Given the description of an element on the screen output the (x, y) to click on. 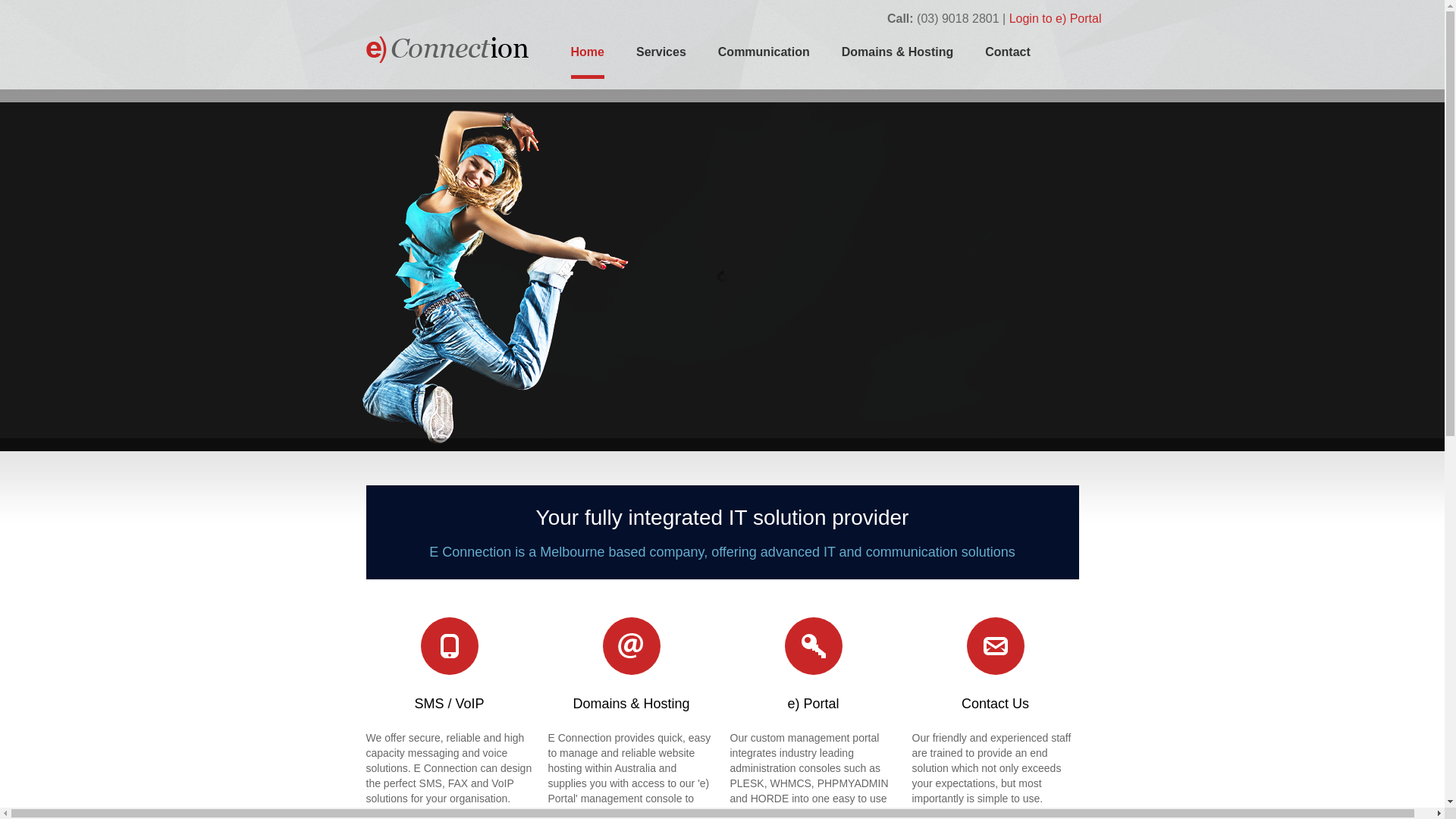
Domains & Hosting Element type: text (897, 59)
Services Element type: text (661, 59)
Login to e) Portal Element type: text (1055, 18)
Communication Element type: text (763, 59)
Contact Element type: text (1007, 59)
Home Element type: text (586, 61)
LEARN MORE Element type: text (456, 340)
